Given the description of an element on the screen output the (x, y) to click on. 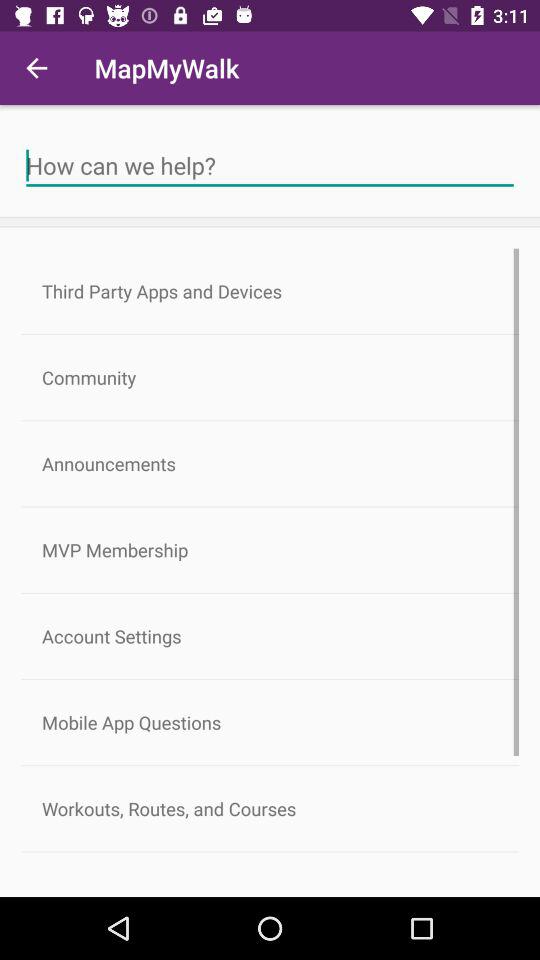
turn off the item below the announcements (269, 549)
